Given the description of an element on the screen output the (x, y) to click on. 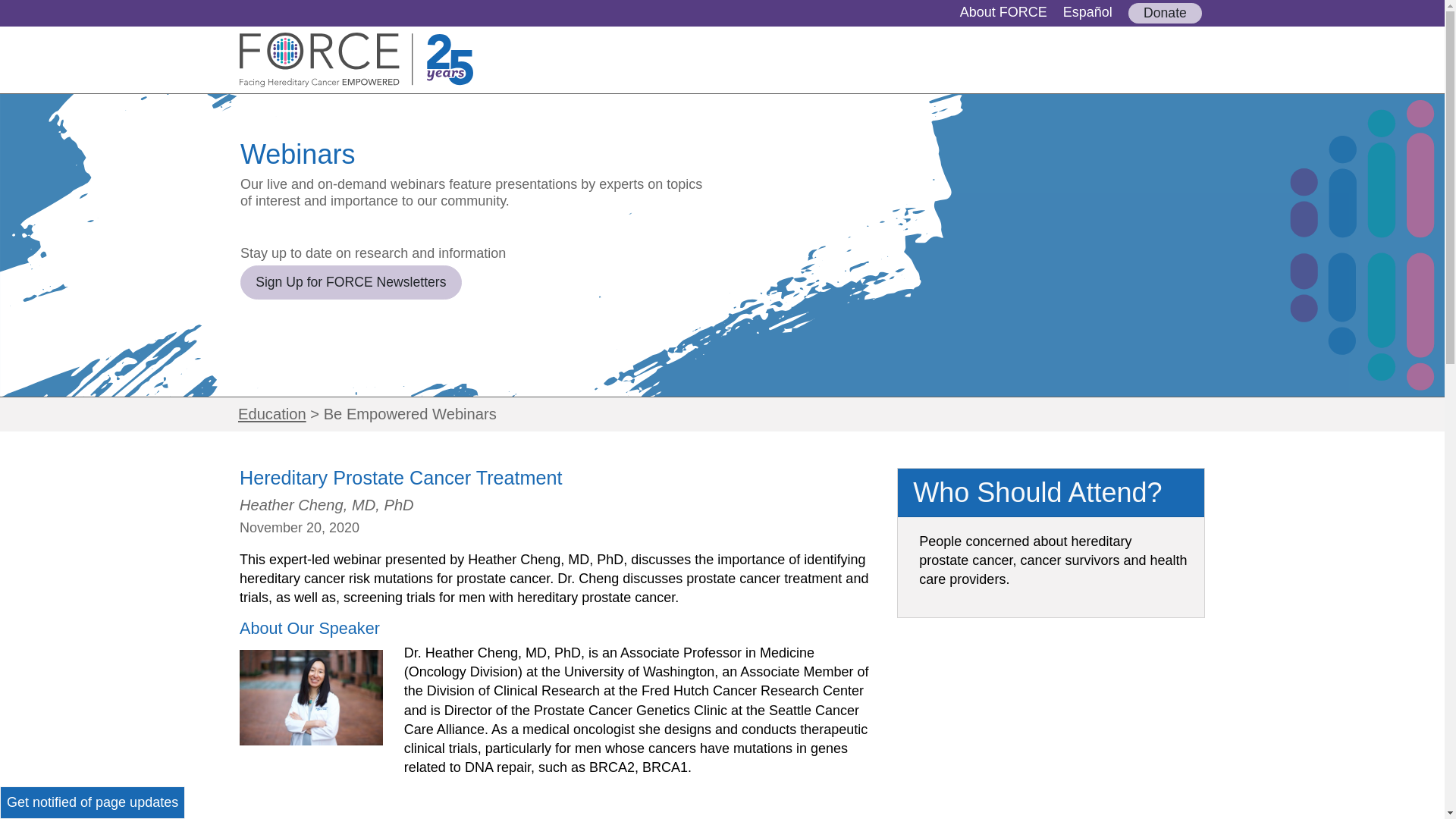
About FORCE (1002, 11)
Donate (1165, 13)
